Given the description of an element on the screen output the (x, y) to click on. 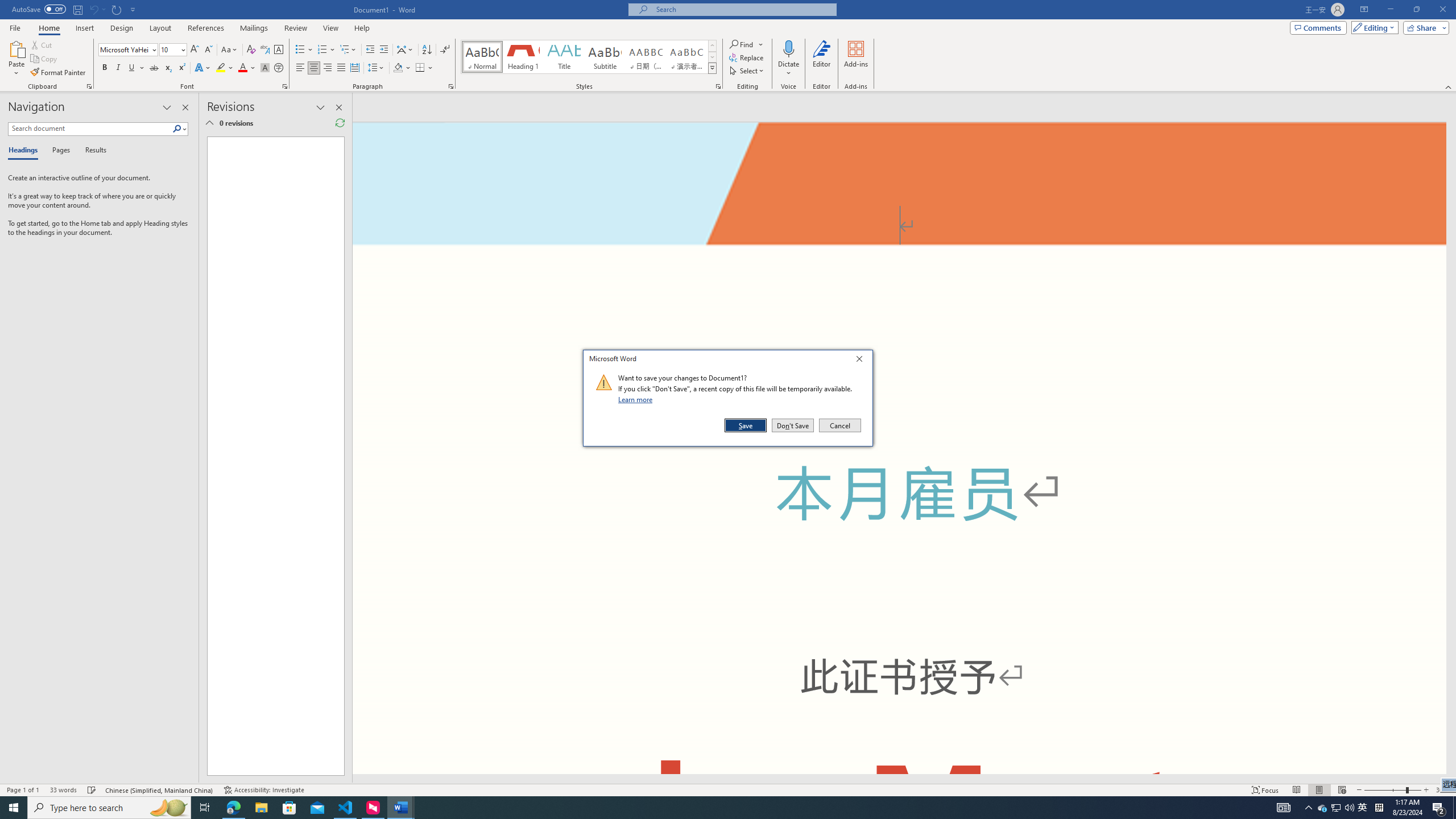
Page 1 content (271, 455)
